Given the description of an element on the screen output the (x, y) to click on. 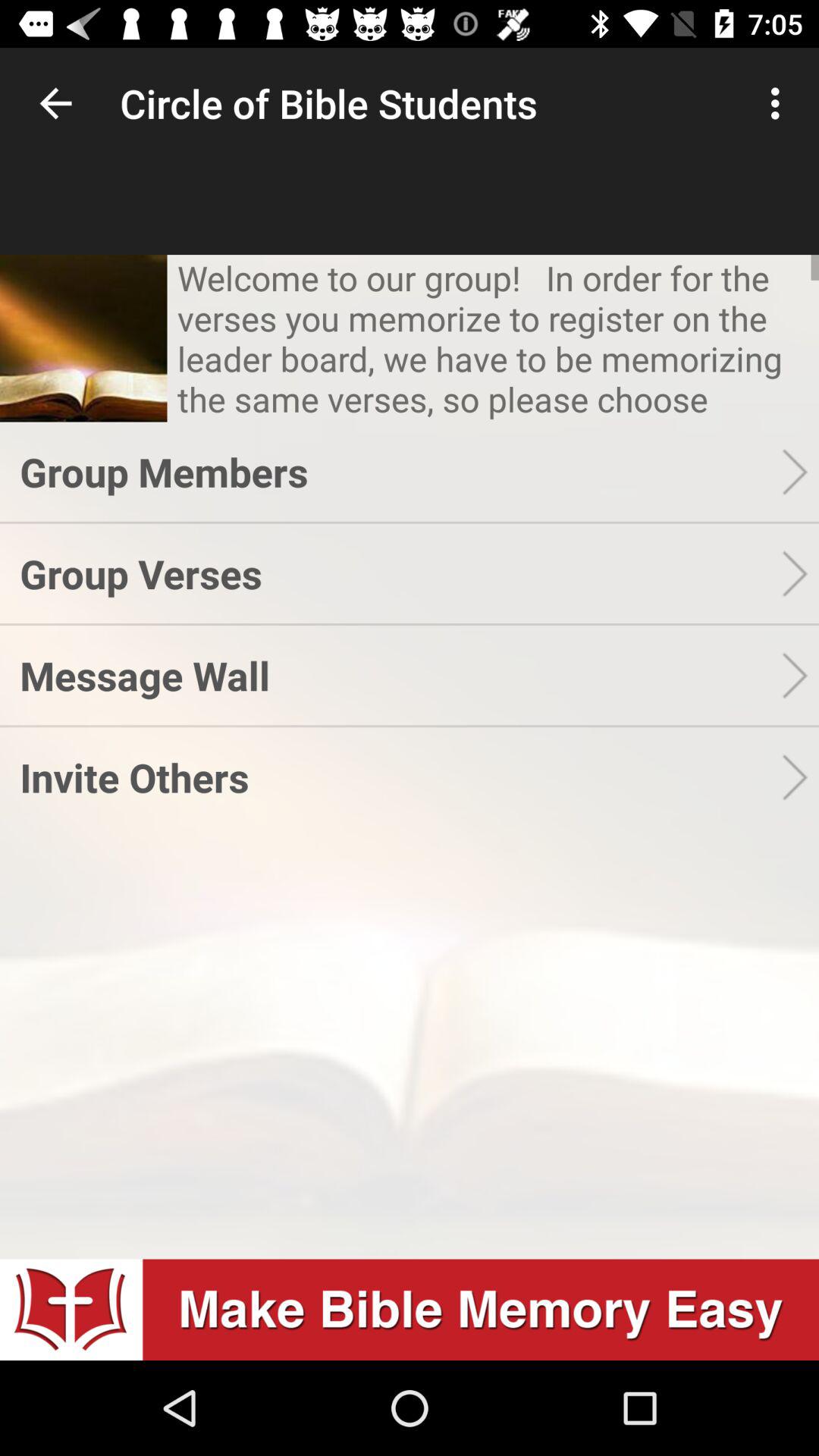
click app next to the circle of bible item (779, 103)
